Given the description of an element on the screen output the (x, y) to click on. 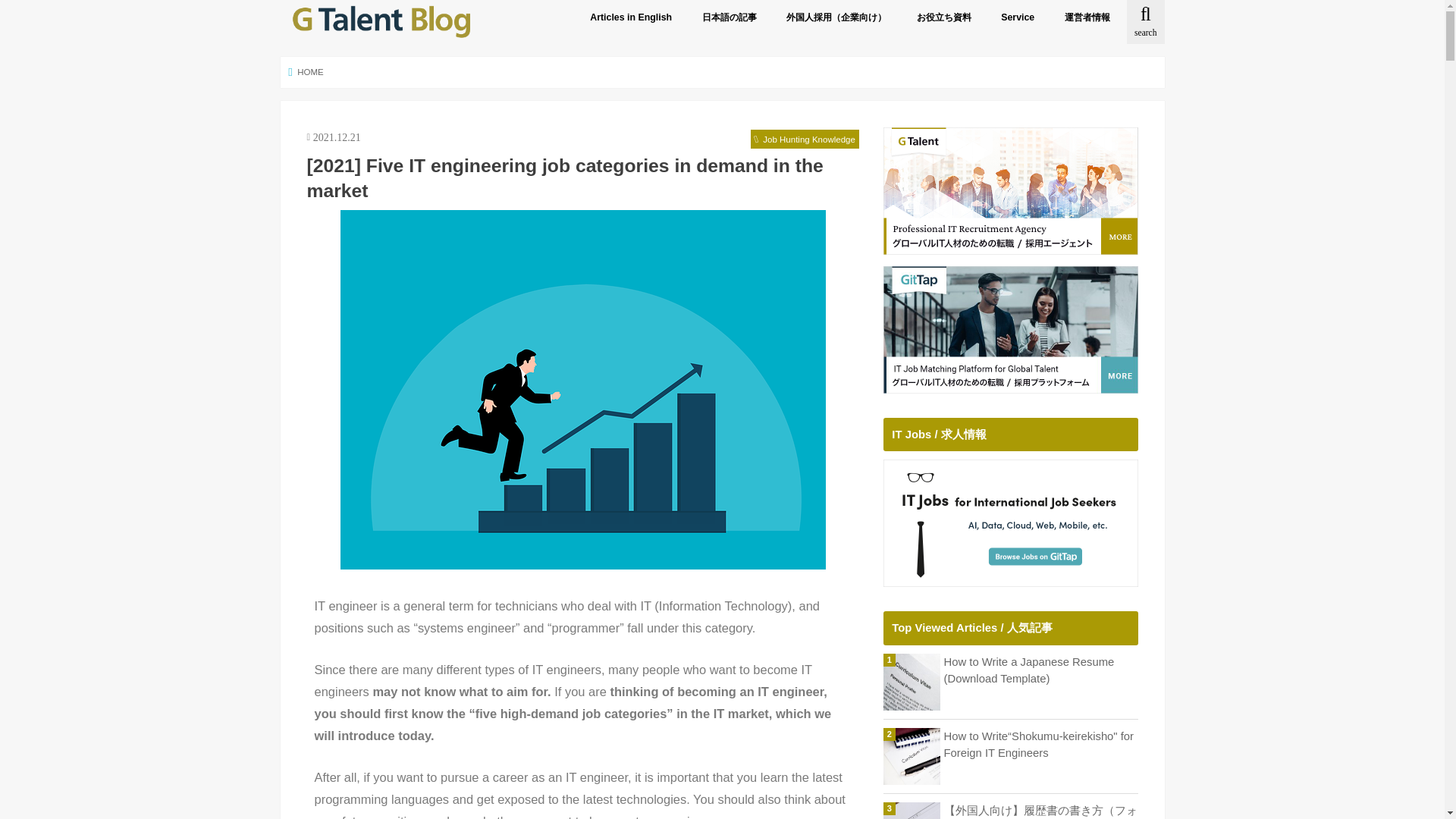
Service (1017, 16)
Articles in English (630, 16)
HOME (305, 71)
